Given the description of an element on the screen output the (x, y) to click on. 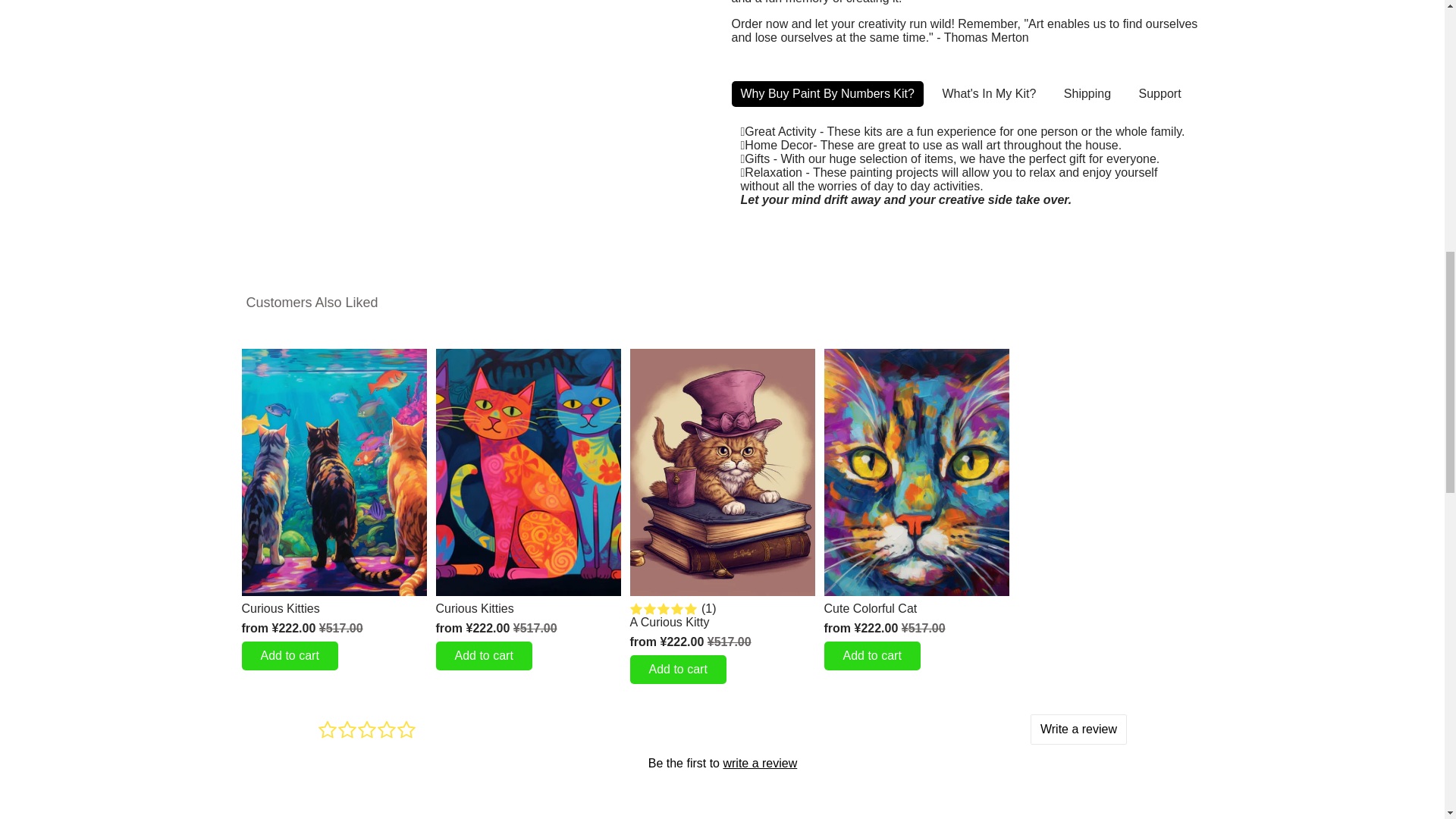
Add to cart (289, 655)
A Curious Kitty (720, 622)
Curious Kitties (333, 608)
Curious Kitties (527, 608)
Add to cart (483, 655)
Product reviews widget (722, 759)
Add to cart (676, 669)
